Given the description of an element on the screen output the (x, y) to click on. 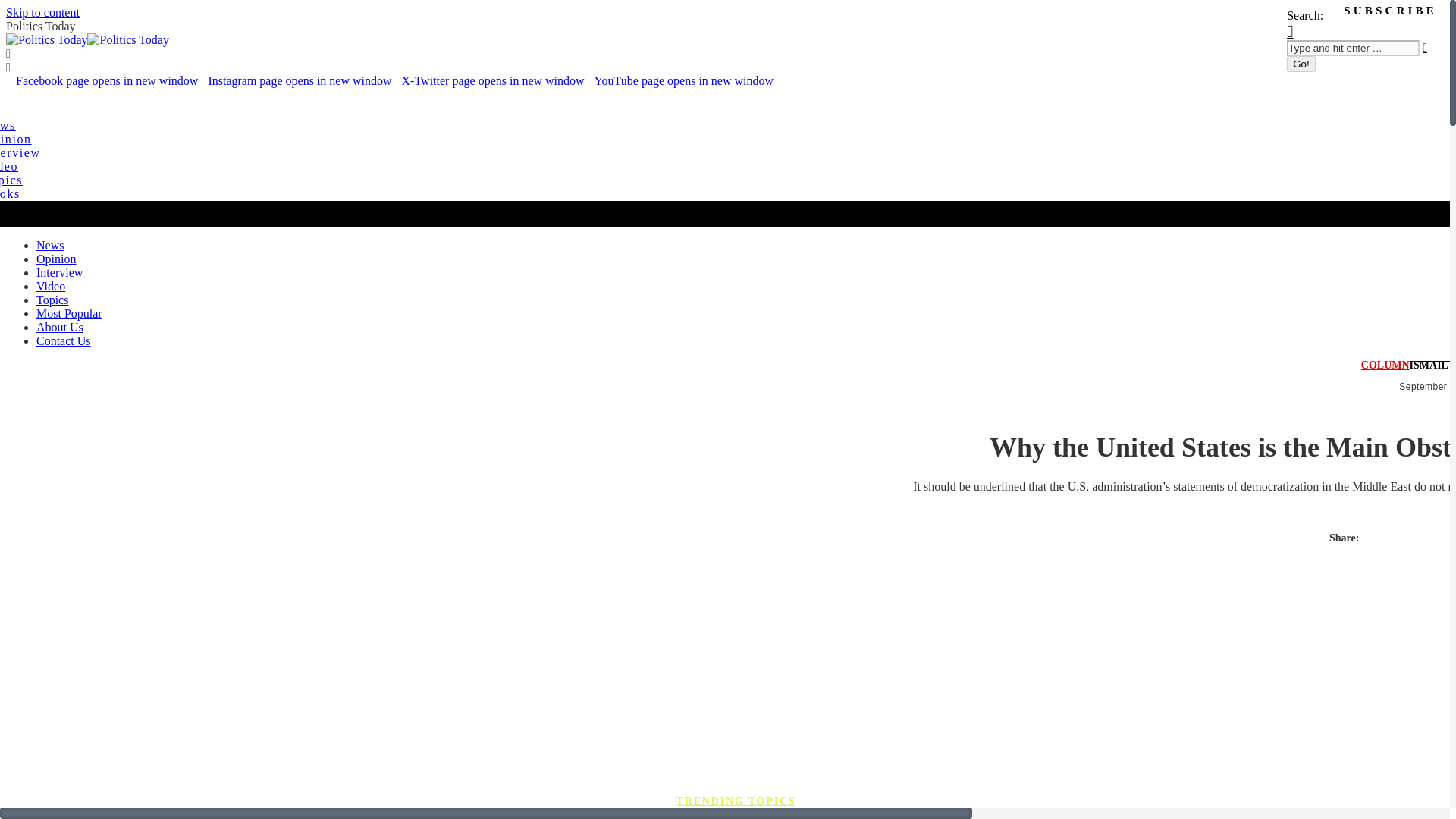
Go! (1300, 64)
Books (10, 193)
Topics (52, 299)
Skip to content (42, 11)
Interview (59, 272)
Search form (1353, 48)
Instagram page opens in new window (299, 80)
Facebook page opens in new window (107, 80)
Go! (1300, 64)
Interview (20, 152)
